Given the description of an element on the screen output the (x, y) to click on. 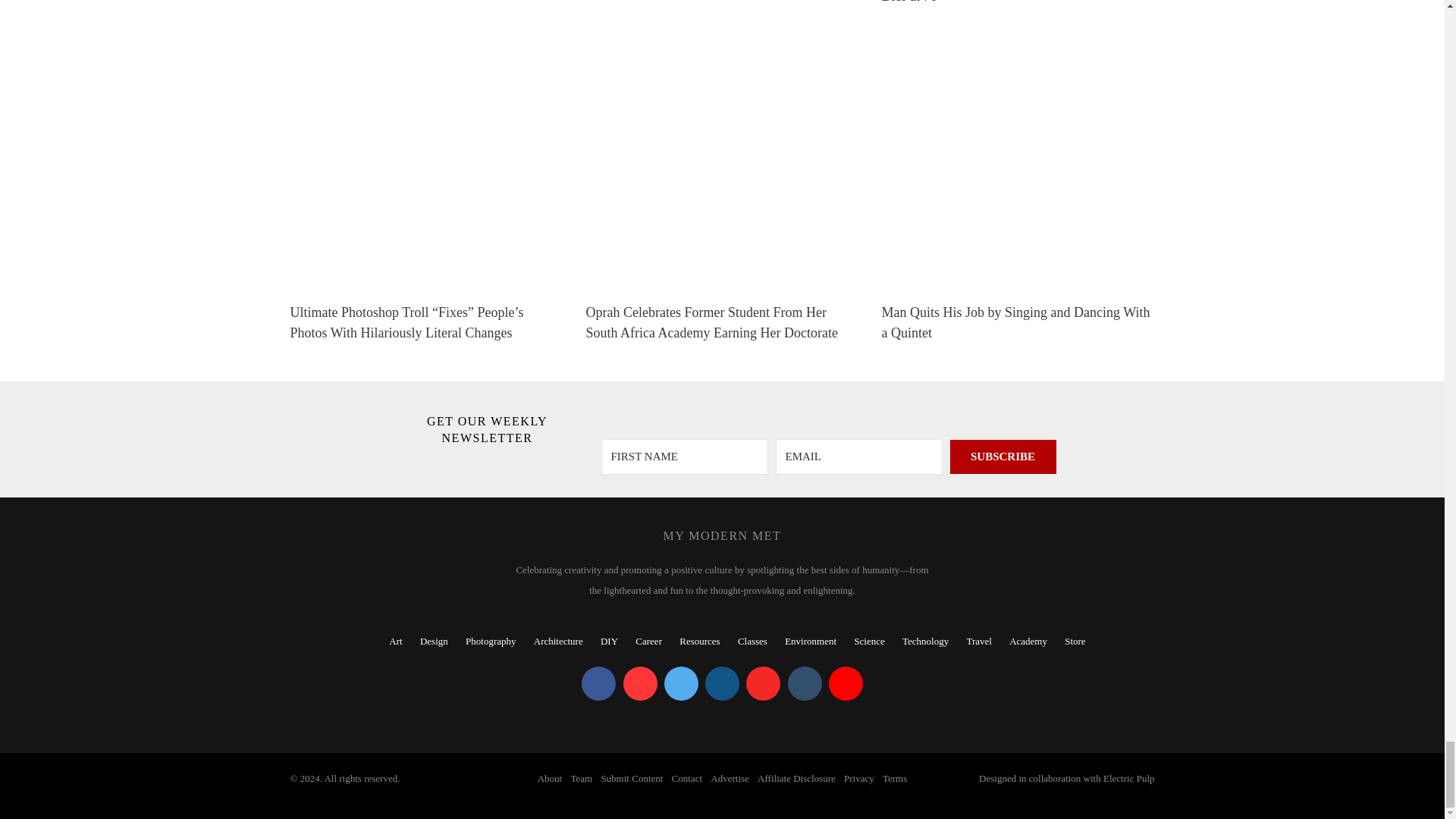
My Modern Met on YouTube (845, 683)
My Modern Met on Pinterest (640, 683)
My Modern Met on Facebook (597, 683)
My Modern Met on Twitter (680, 683)
My Modern Met on Tumblr (804, 683)
My Modern Met on Instagram (721, 683)
